Given the description of an element on the screen output the (x, y) to click on. 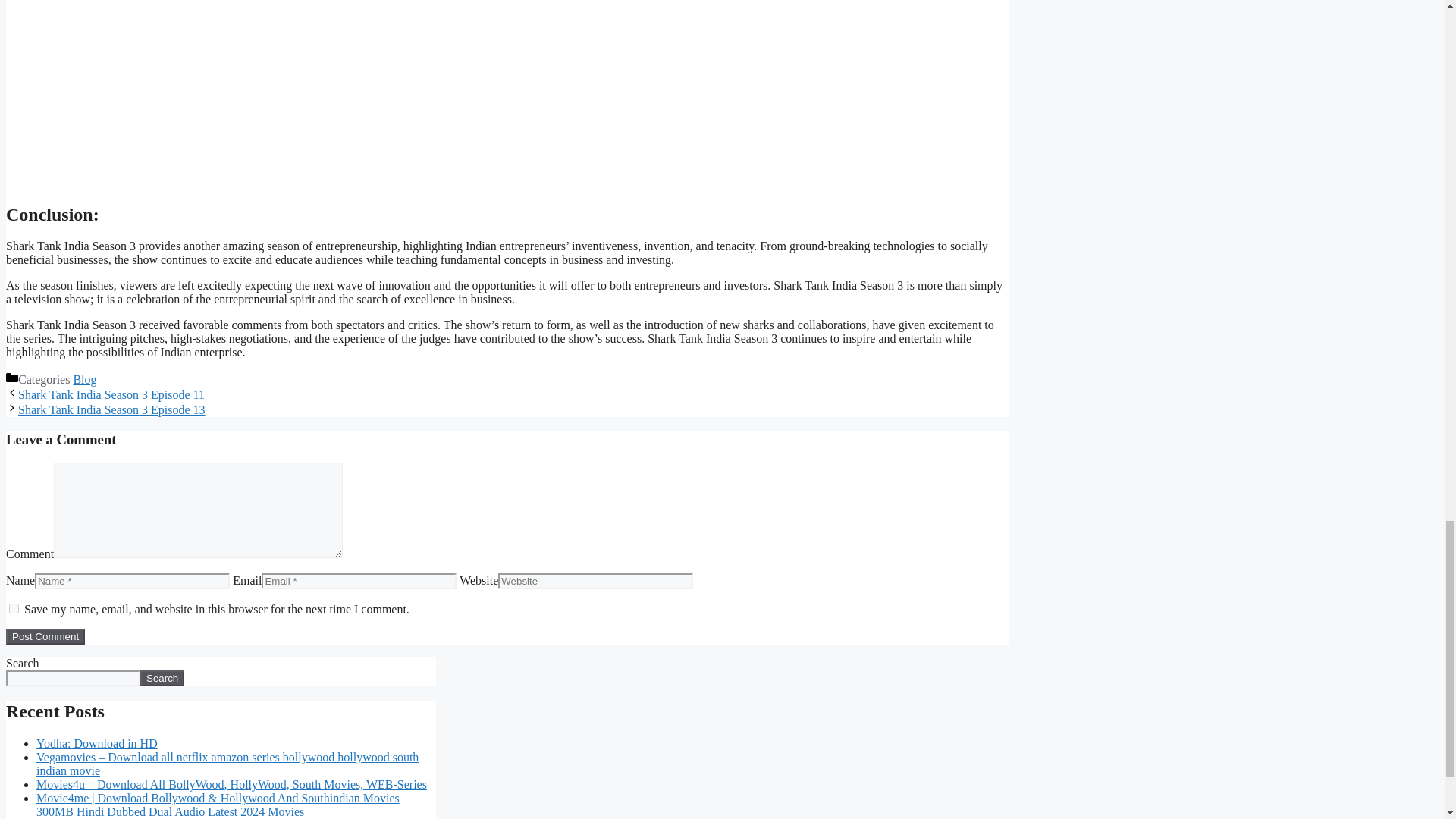
Shark Tank India Season 3 Episode 13 (111, 409)
Shark Tank India Season 3 Episode 11 (111, 394)
Search (161, 678)
yes (13, 608)
Post Comment (44, 636)
Post Comment (44, 636)
Yodha: Download in HD (96, 743)
Blog (84, 379)
